Given the description of an element on the screen output the (x, y) to click on. 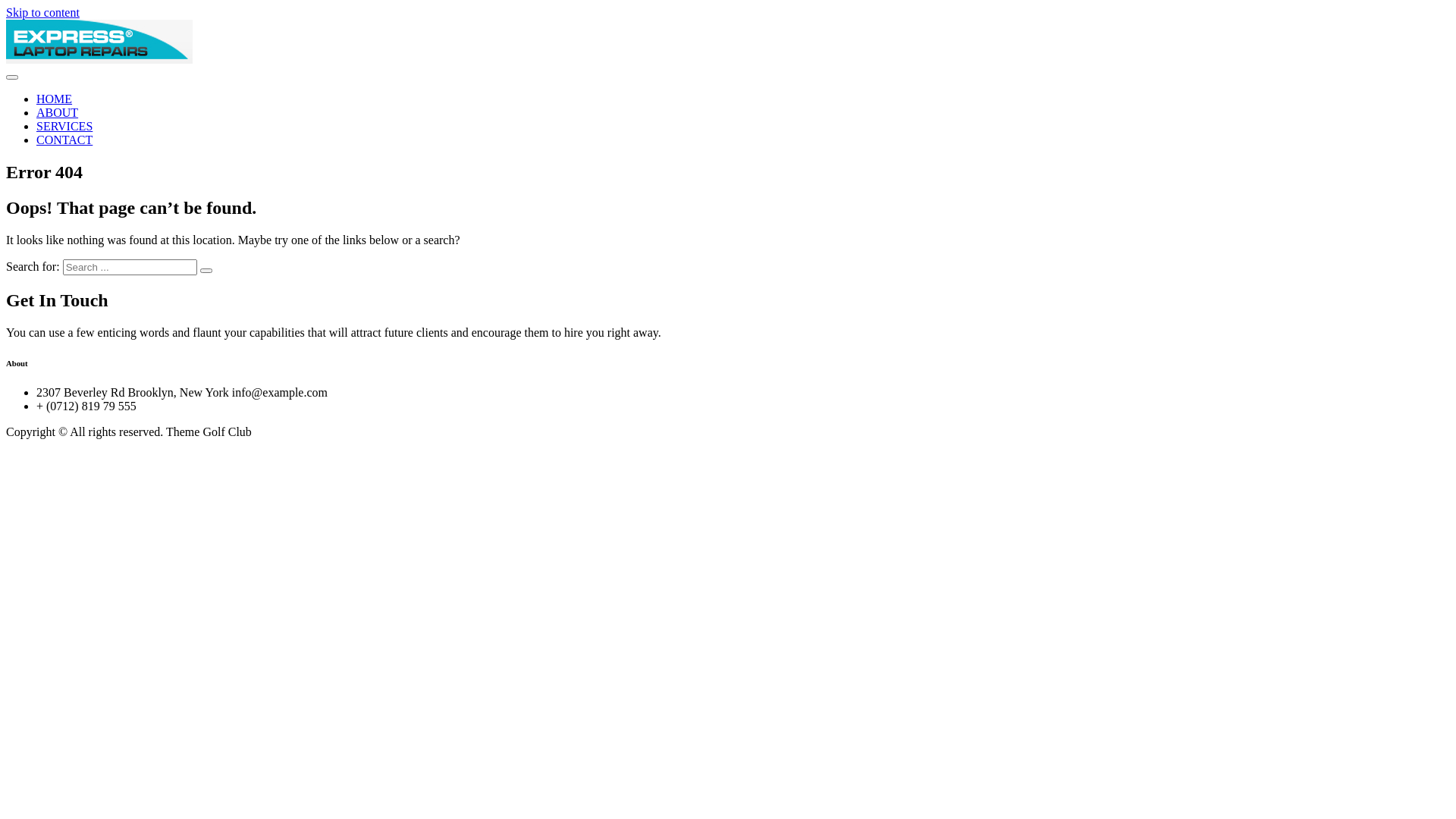
ABOUT Element type: text (57, 112)
SERVICES Element type: text (64, 125)
Search Element type: text (206, 270)
HOME Element type: text (54, 98)
CONTACT Element type: text (64, 139)
Search for: Element type: hover (129, 267)
Skip to content Element type: text (42, 12)
